Given the description of an element on the screen output the (x, y) to click on. 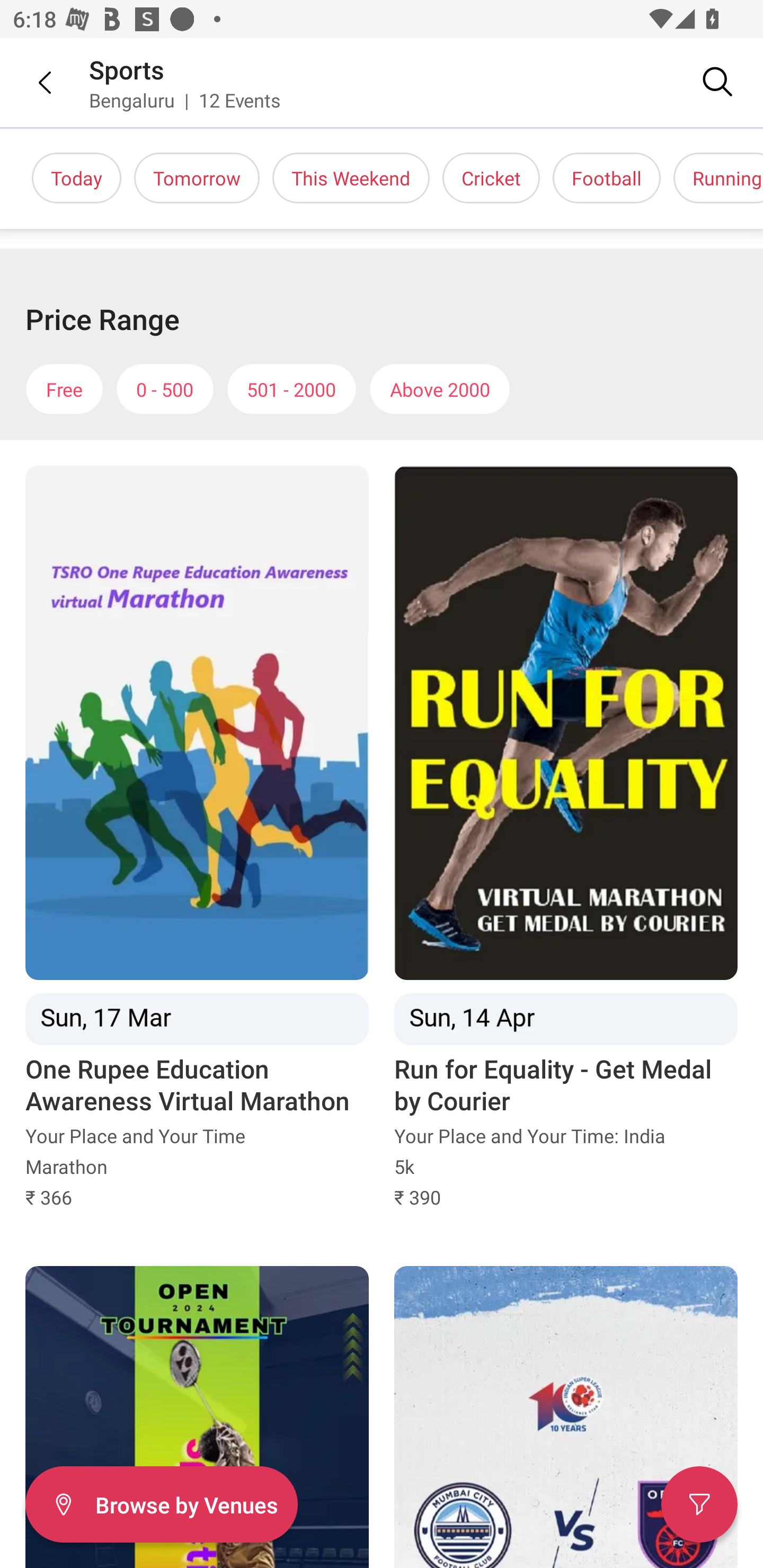
Back (31, 82)
Sports (126, 68)
Bengaluru  |  12 Events (185, 99)
Today (76, 177)
Tomorrow (196, 177)
This Weekend (350, 177)
Cricket (491, 177)
Football (606, 177)
Running (718, 177)
Free (64, 389)
0 - 500 (164, 389)
501 - 2000 (291, 389)
Above 2000 (439, 389)
Filter Browse by Venues (161, 1504)
Filter (699, 1504)
